Given the description of an element on the screen output the (x, y) to click on. 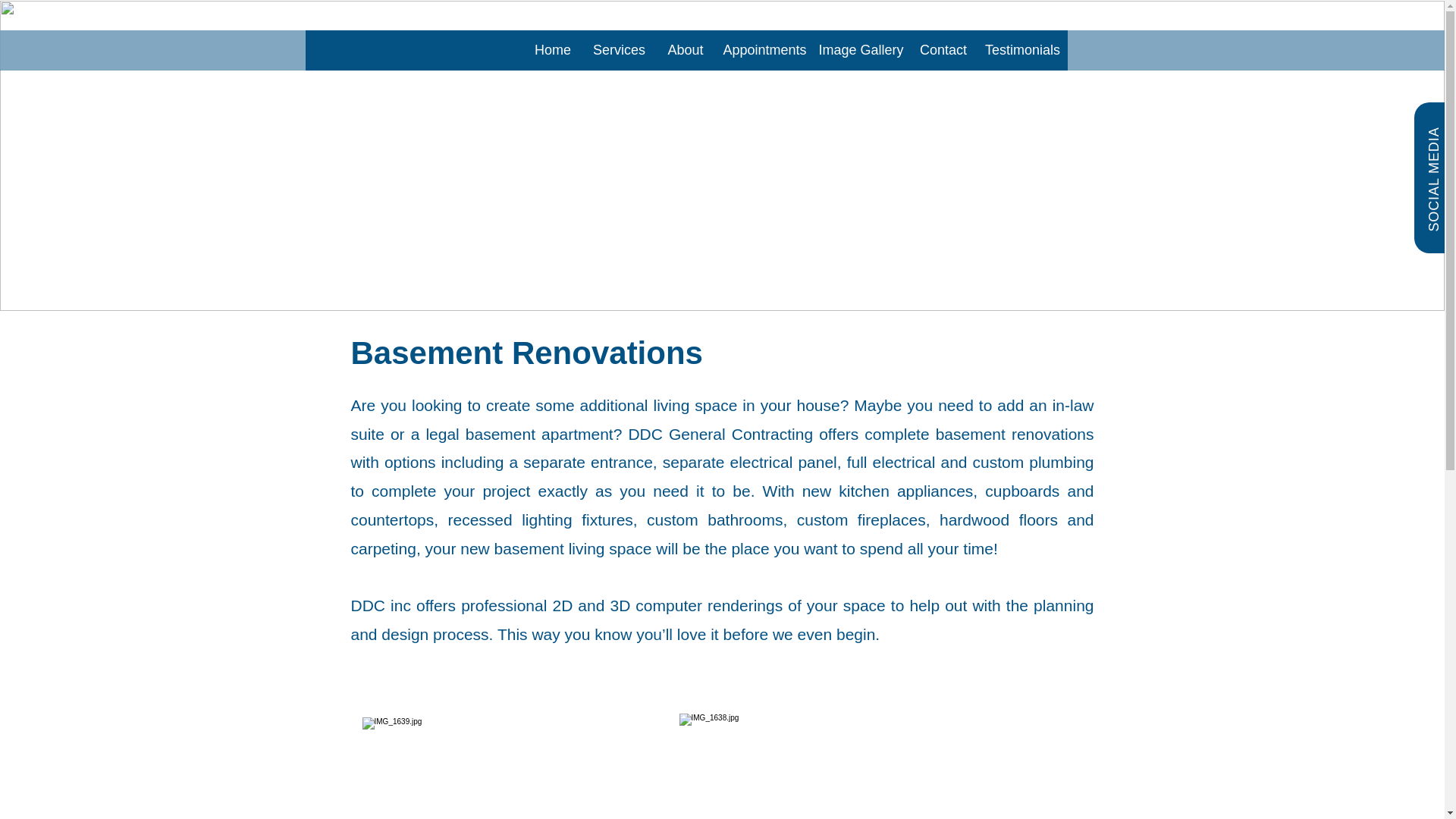
About (685, 50)
Testimonials (1022, 50)
Appointments (764, 50)
Image Gallery (860, 50)
Contact (942, 50)
Home (552, 50)
